Given the description of an element on the screen output the (x, y) to click on. 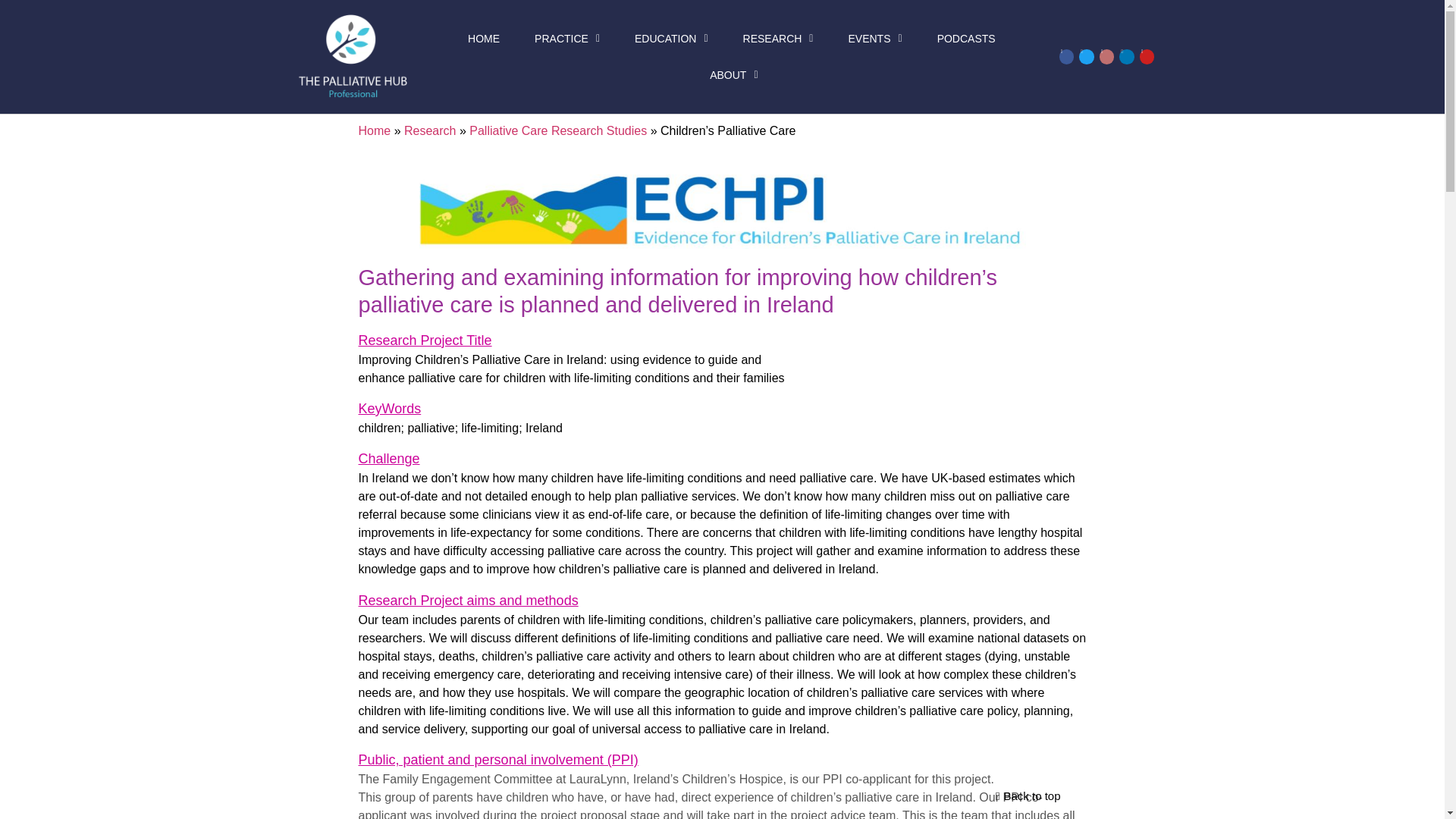
Palliative Care Research Studies (557, 130)
Home (374, 130)
Research (429, 130)
